Given the description of an element on the screen output the (x, y) to click on. 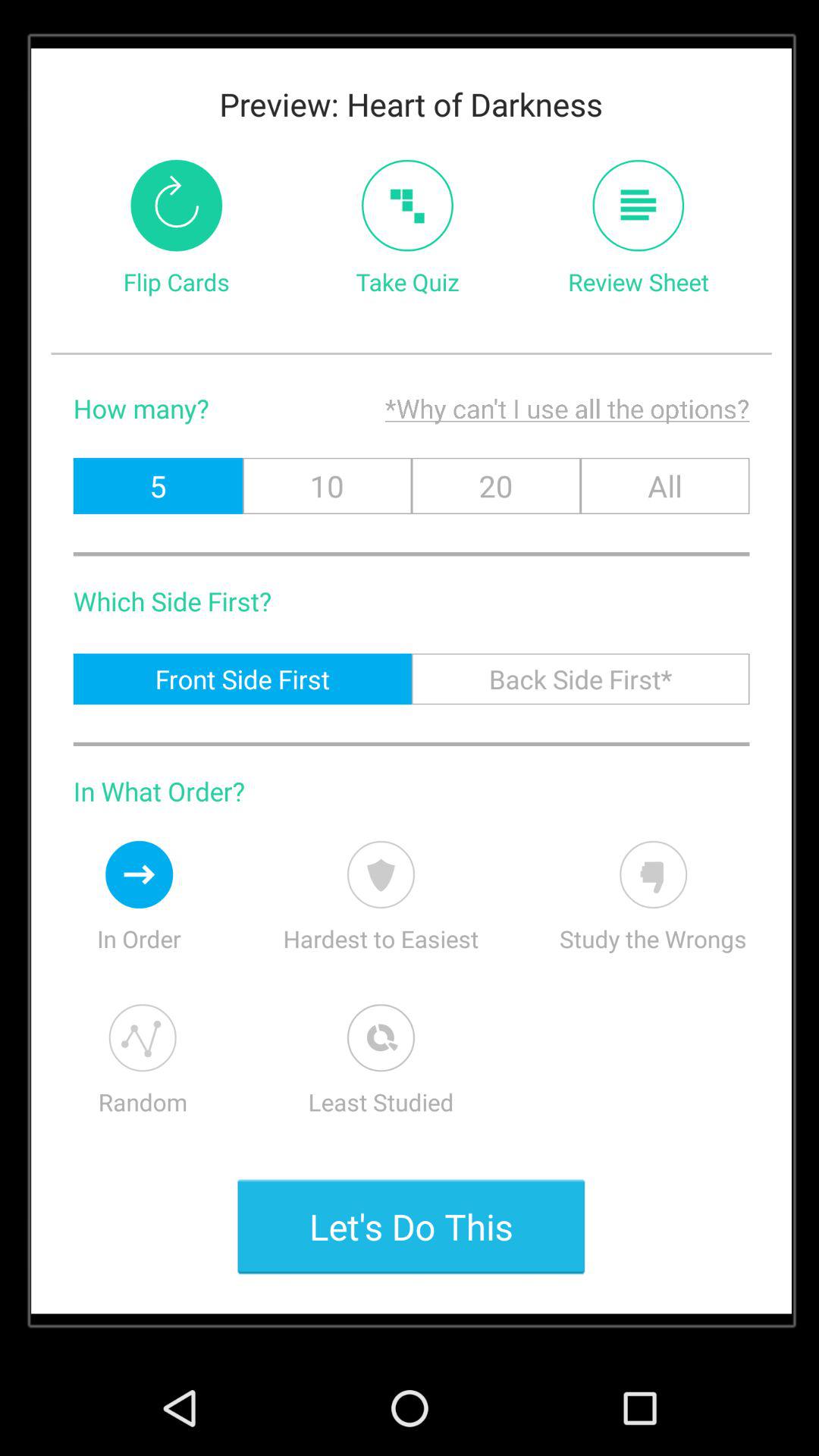
randomize flashcards (142, 1037)
